Given the description of an element on the screen output the (x, y) to click on. 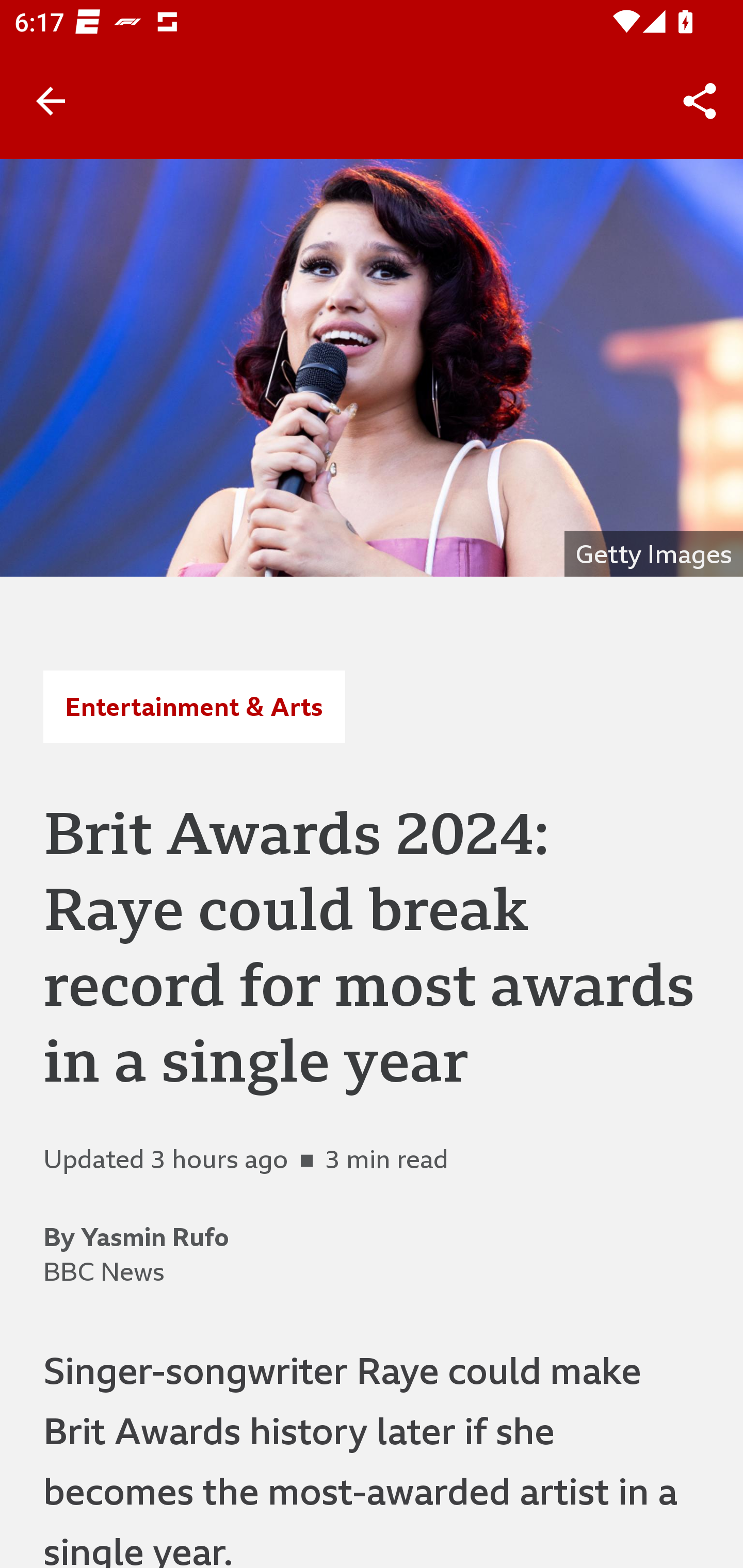
Back (50, 101)
Share (699, 101)
Entertainment & Arts (194, 706)
